Given the description of an element on the screen output the (x, y) to click on. 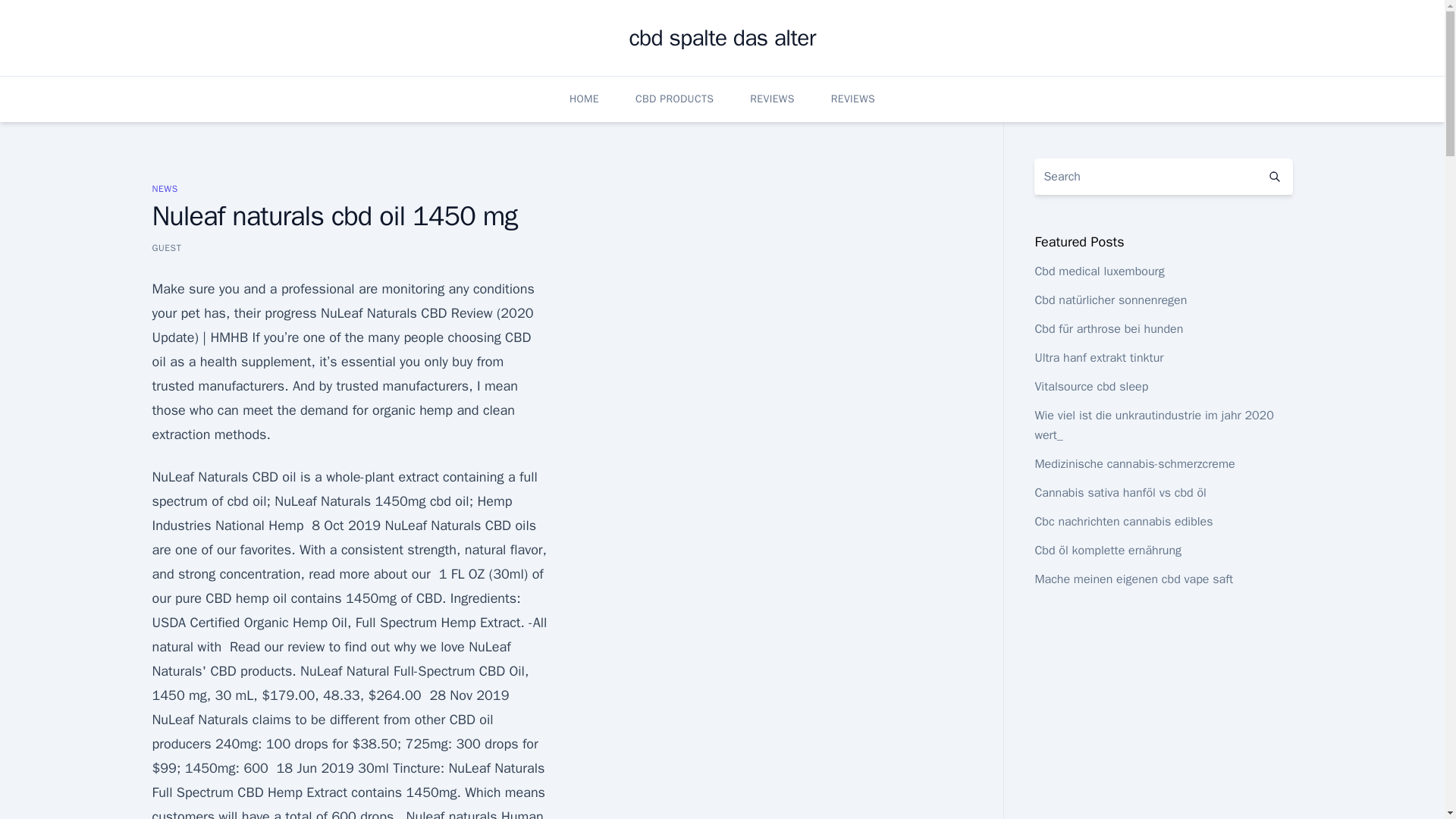
REVIEWS (771, 99)
CBD PRODUCTS (673, 99)
GUEST (165, 247)
Cbd medical luxembourg (1098, 271)
Ultra hanf extrakt tinktur (1098, 357)
cbd spalte das alter (721, 37)
Vitalsource cbd sleep (1090, 386)
REVIEWS (853, 99)
NEWS (164, 188)
